Given the description of an element on the screen output the (x, y) to click on. 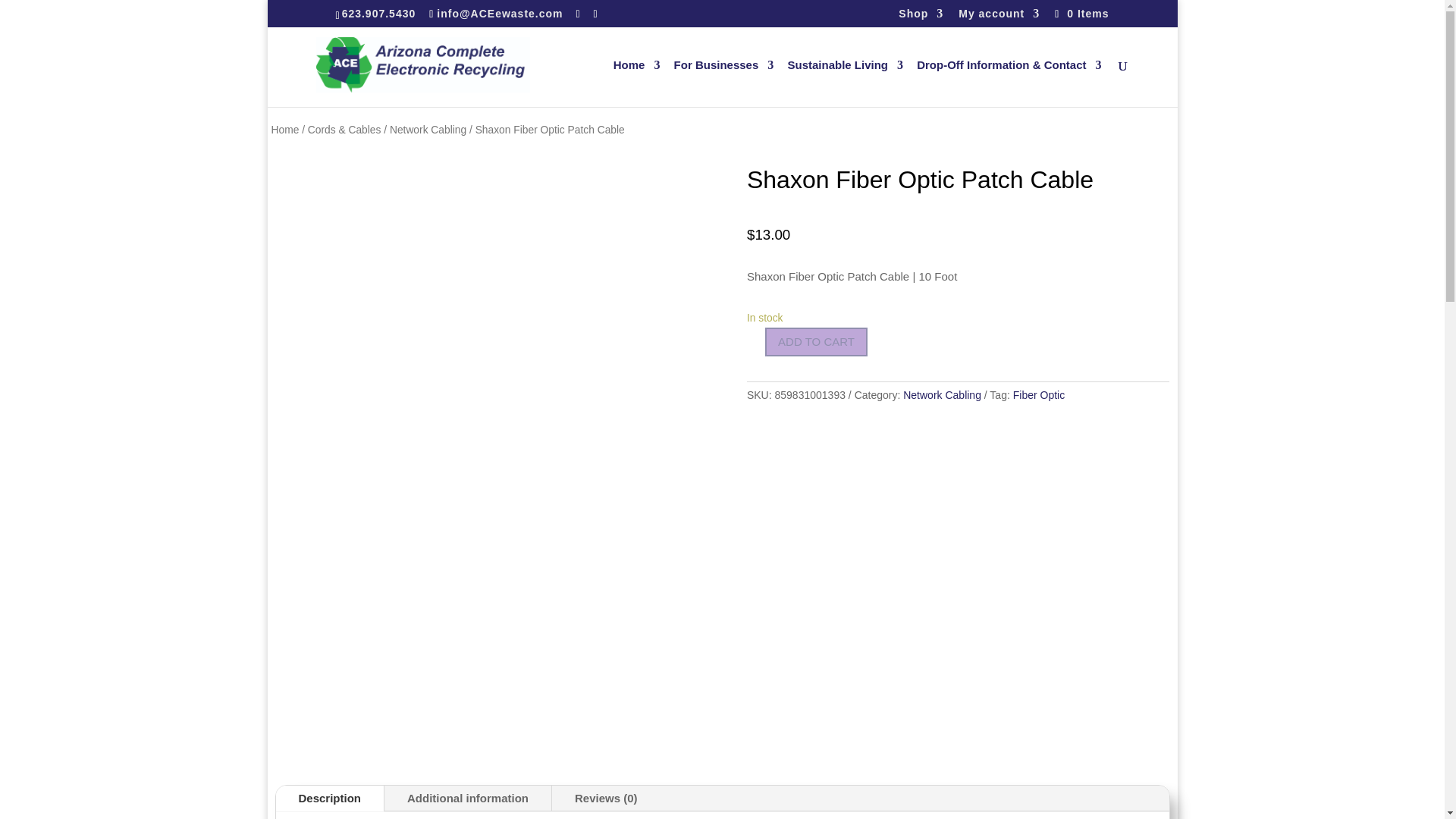
For Businesses (724, 83)
Sustainable Living (844, 83)
Home (636, 83)
Fiber Optic (1038, 395)
Home (284, 129)
Network Cabling (427, 129)
0 Items (1079, 13)
ADD TO CART (816, 342)
My account (998, 16)
Shop (920, 16)
